Given the description of an element on the screen output the (x, y) to click on. 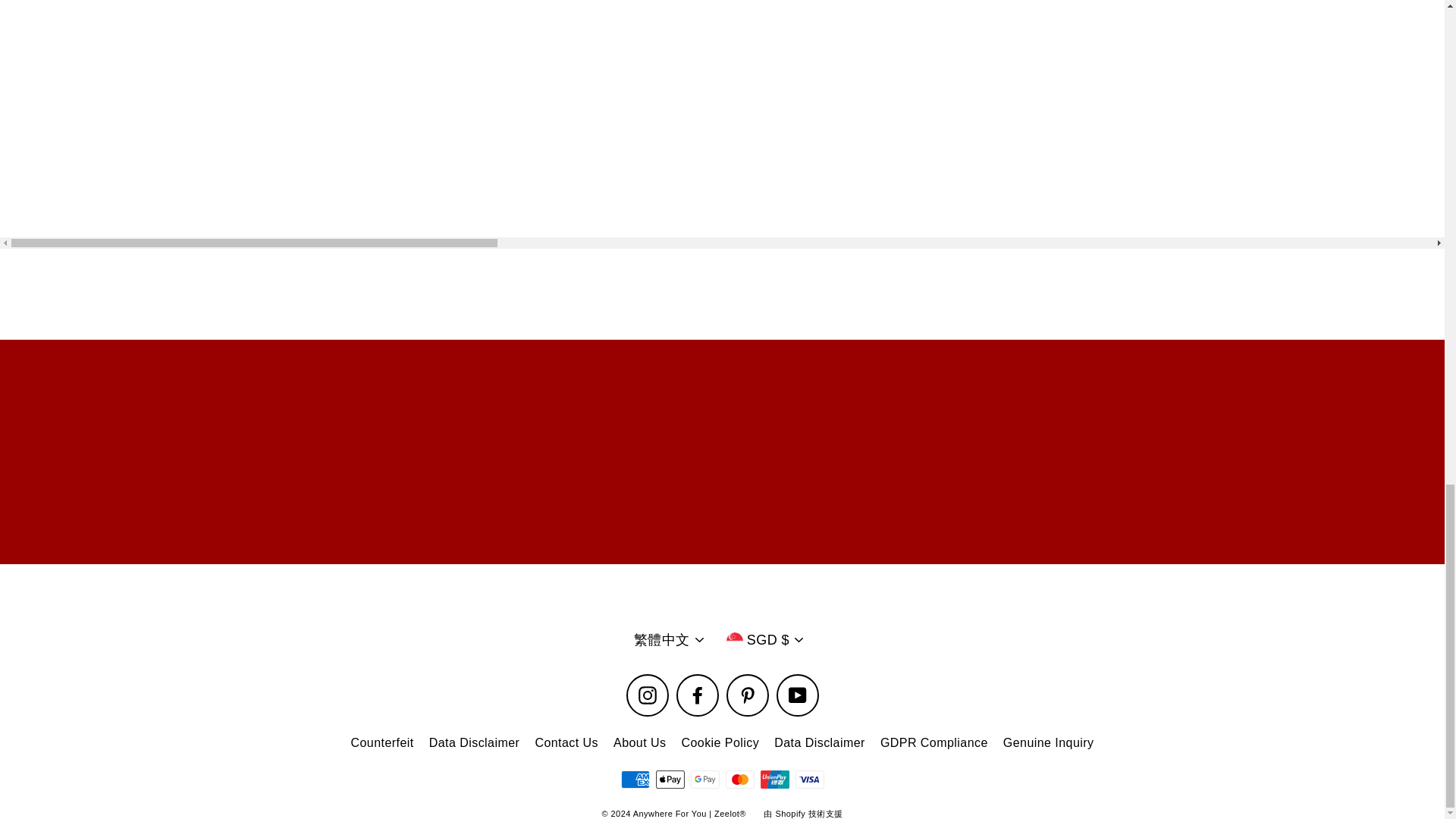
Visa (809, 779)
American Express (634, 779)
Mastercard (739, 779)
Google Pay (704, 779)
Apple Pay (669, 779)
Union Pay (774, 779)
